Given the description of an element on the screen output the (x, y) to click on. 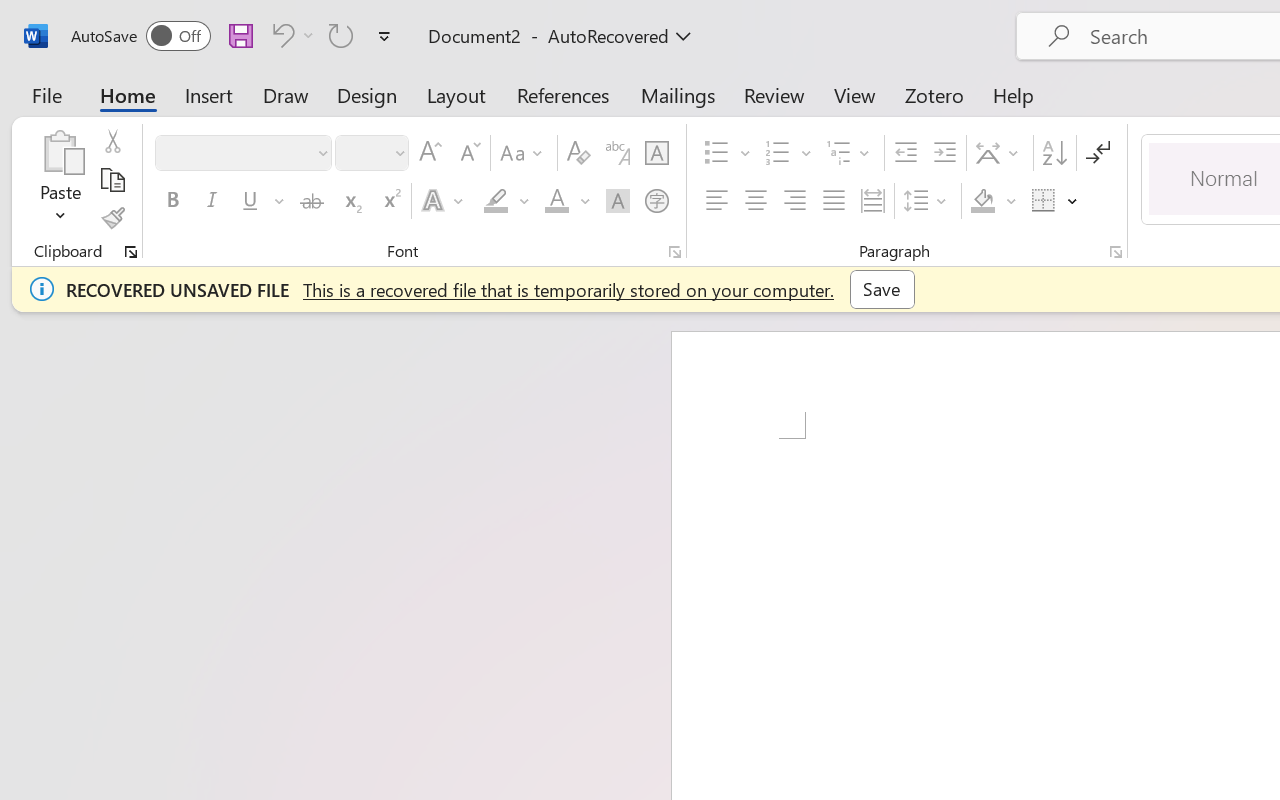
Line and Paragraph Spacing (927, 201)
Can't Undo (280, 35)
Superscript (390, 201)
Clear Formatting (578, 153)
Character Border (656, 153)
Format Painter (112, 218)
Can't Undo (290, 35)
Decrease Indent (906, 153)
Change Case (524, 153)
Text Highlight Color Yellow (495, 201)
Italic (212, 201)
